Given the description of an element on the screen output the (x, y) to click on. 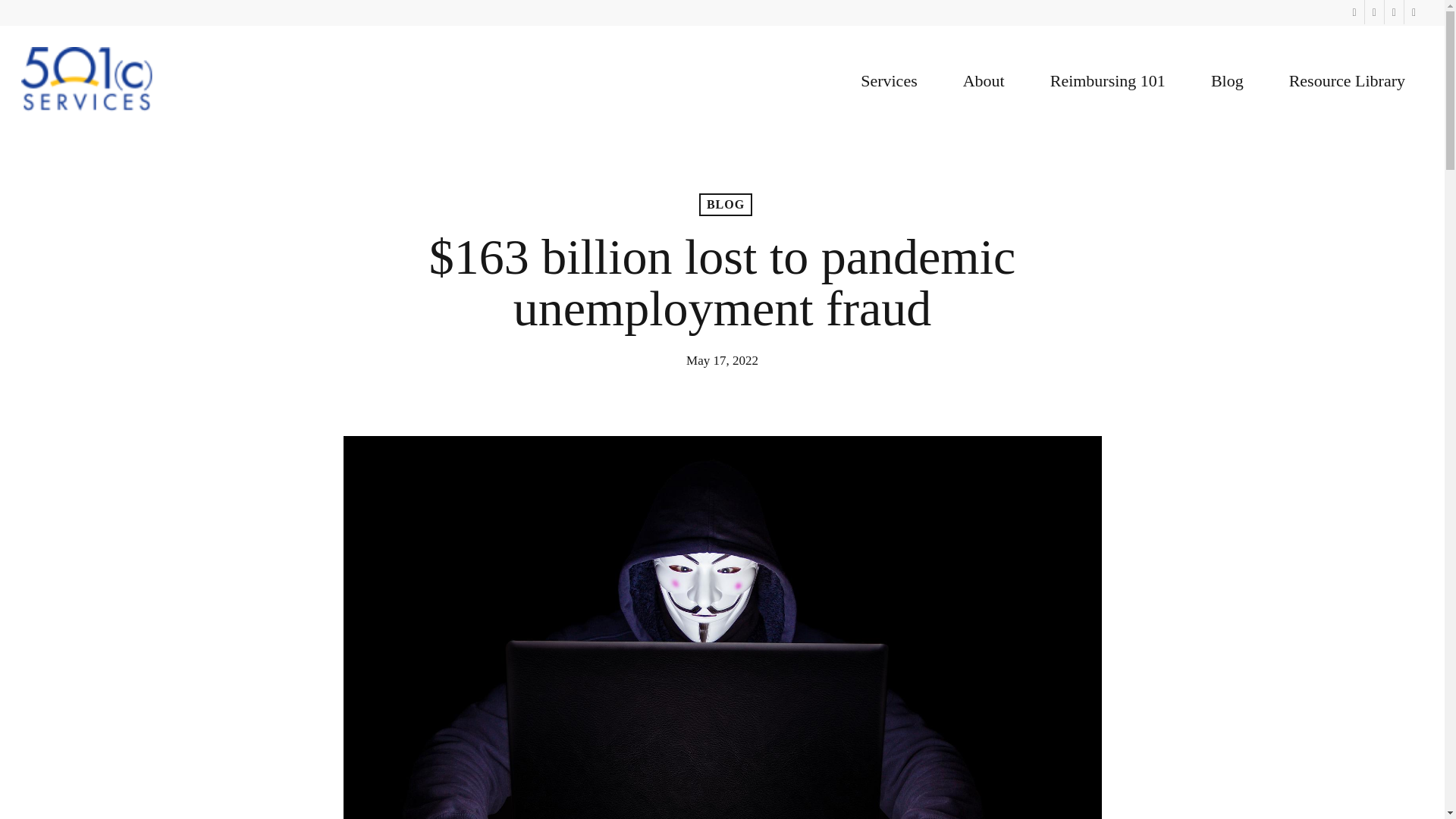
About (983, 80)
BLOG (725, 204)
Blog (1227, 80)
Resource Library (1347, 80)
Services (889, 80)
Reimbursing 101 (1107, 80)
